Given the description of an element on the screen output the (x, y) to click on. 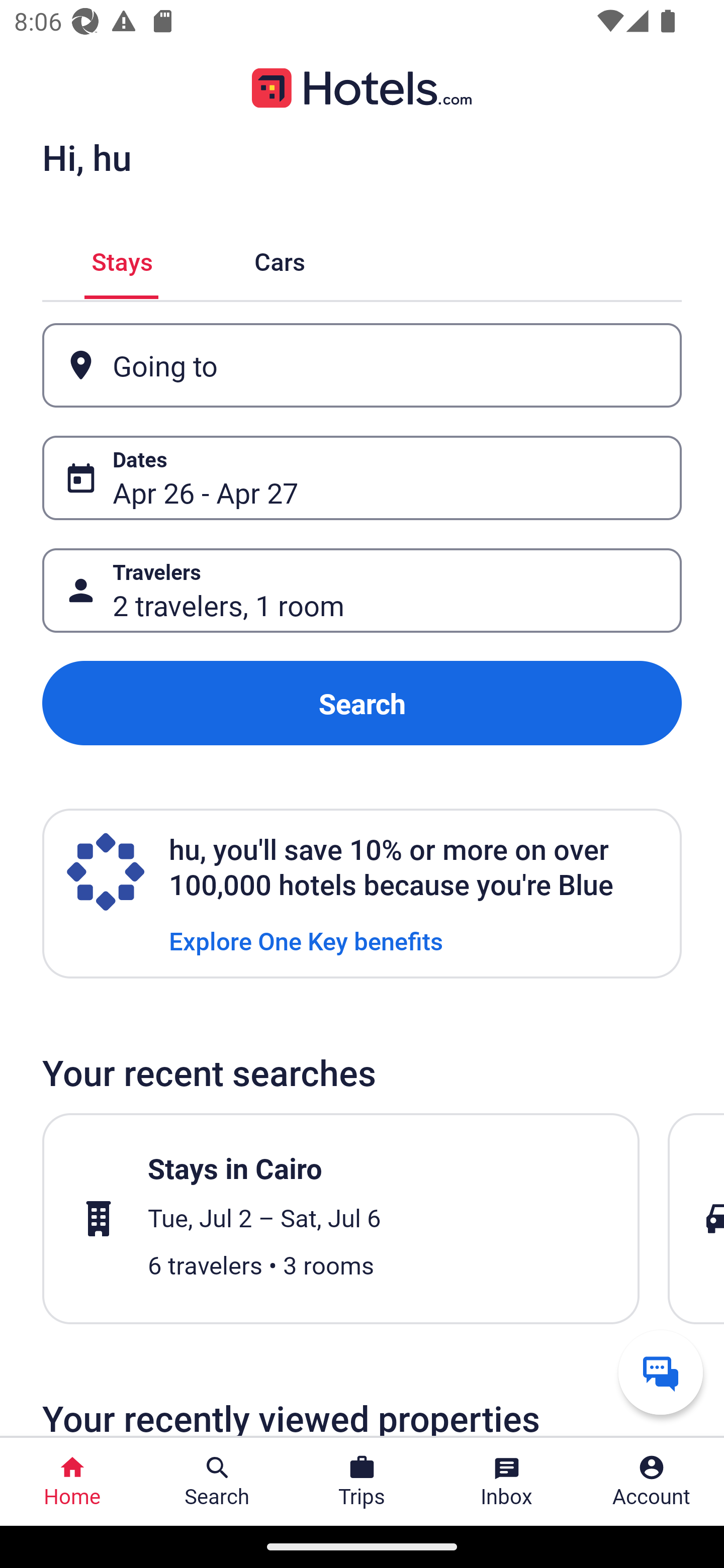
Hi, hu (86, 156)
Cars (279, 259)
Going to Button (361, 365)
Dates Button Apr 26 - Apr 27 (361, 477)
Travelers Button 2 travelers, 1 room (361, 590)
Search (361, 702)
Get help from a virtual agent (660, 1371)
Search Search Button (216, 1481)
Trips Trips Button (361, 1481)
Inbox Inbox Button (506, 1481)
Account Profile. Button (651, 1481)
